Given the description of an element on the screen output the (x, y) to click on. 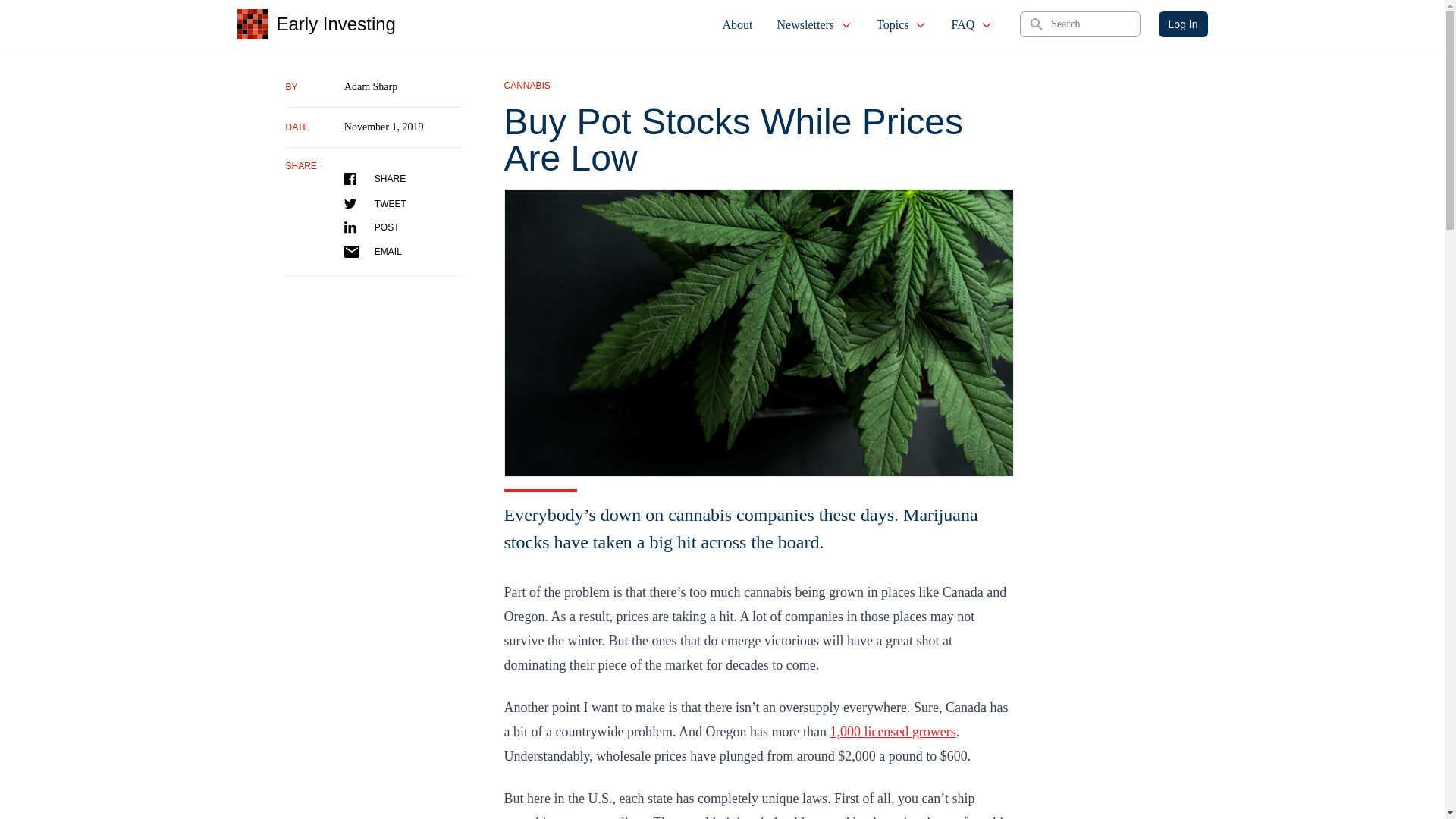
Topics (901, 24)
EMAIL (372, 251)
SHARE (374, 178)
Log In (1183, 23)
FAQ (971, 24)
Newsletters (814, 24)
POST (370, 227)
TWEET (374, 203)
Early Investing (314, 24)
Adam Sharp (370, 86)
